Given the description of an element on the screen output the (x, y) to click on. 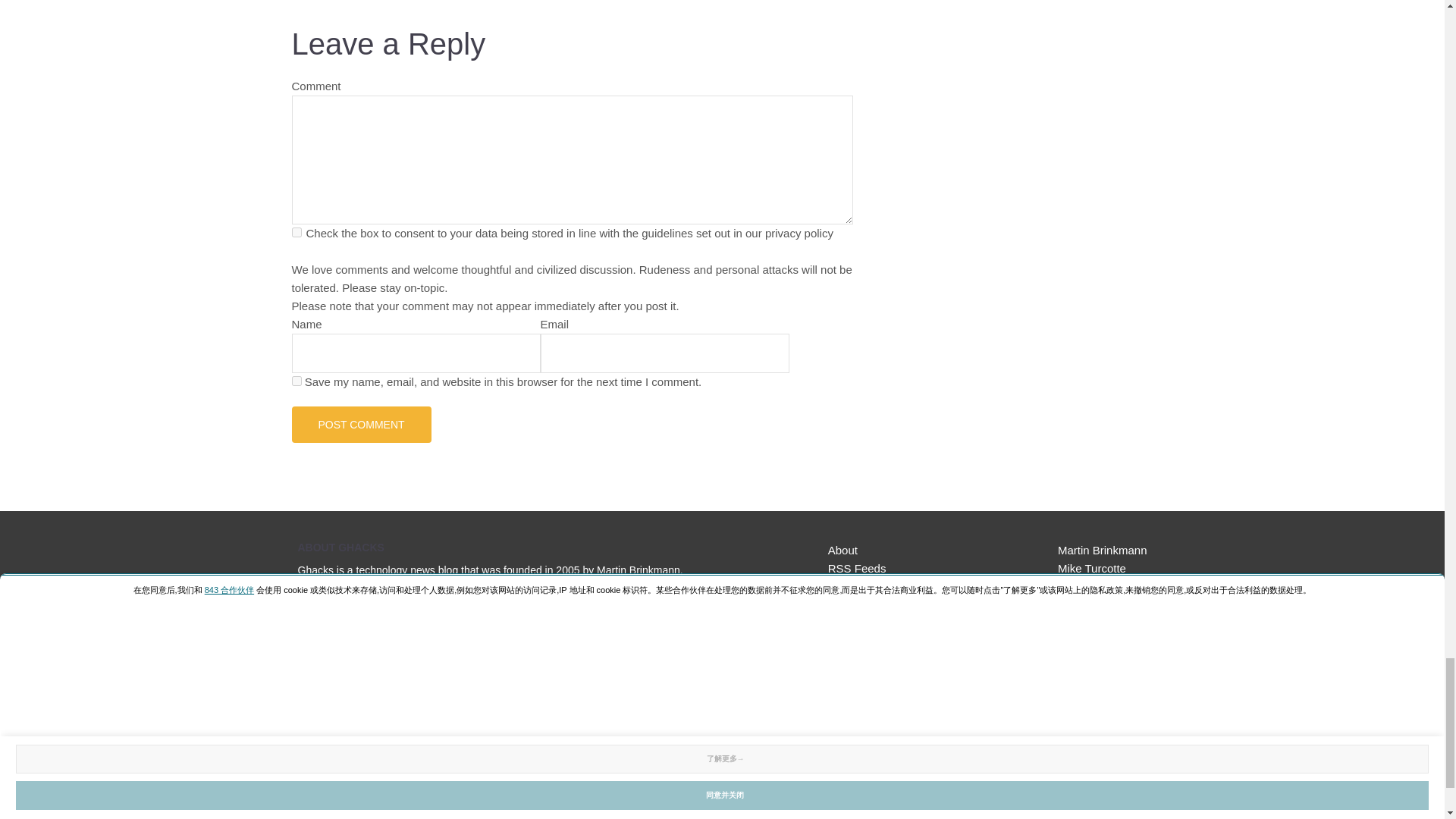
privacy-key (296, 232)
yes (296, 380)
Post Comment (360, 424)
